Given the description of an element on the screen output the (x, y) to click on. 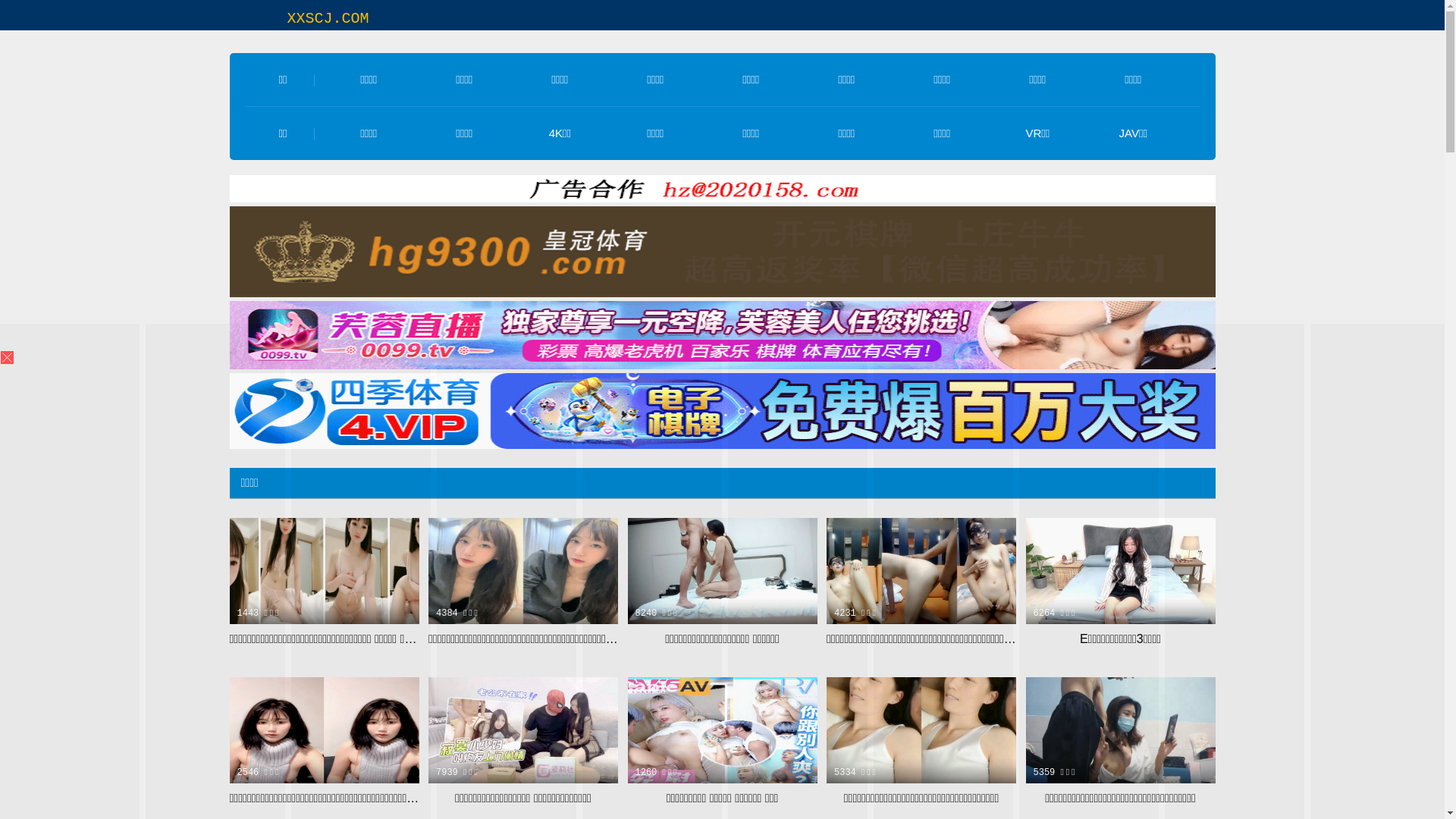
XXSCJ.COM Element type: text (327, 18)
